Given the description of an element on the screen output the (x, y) to click on. 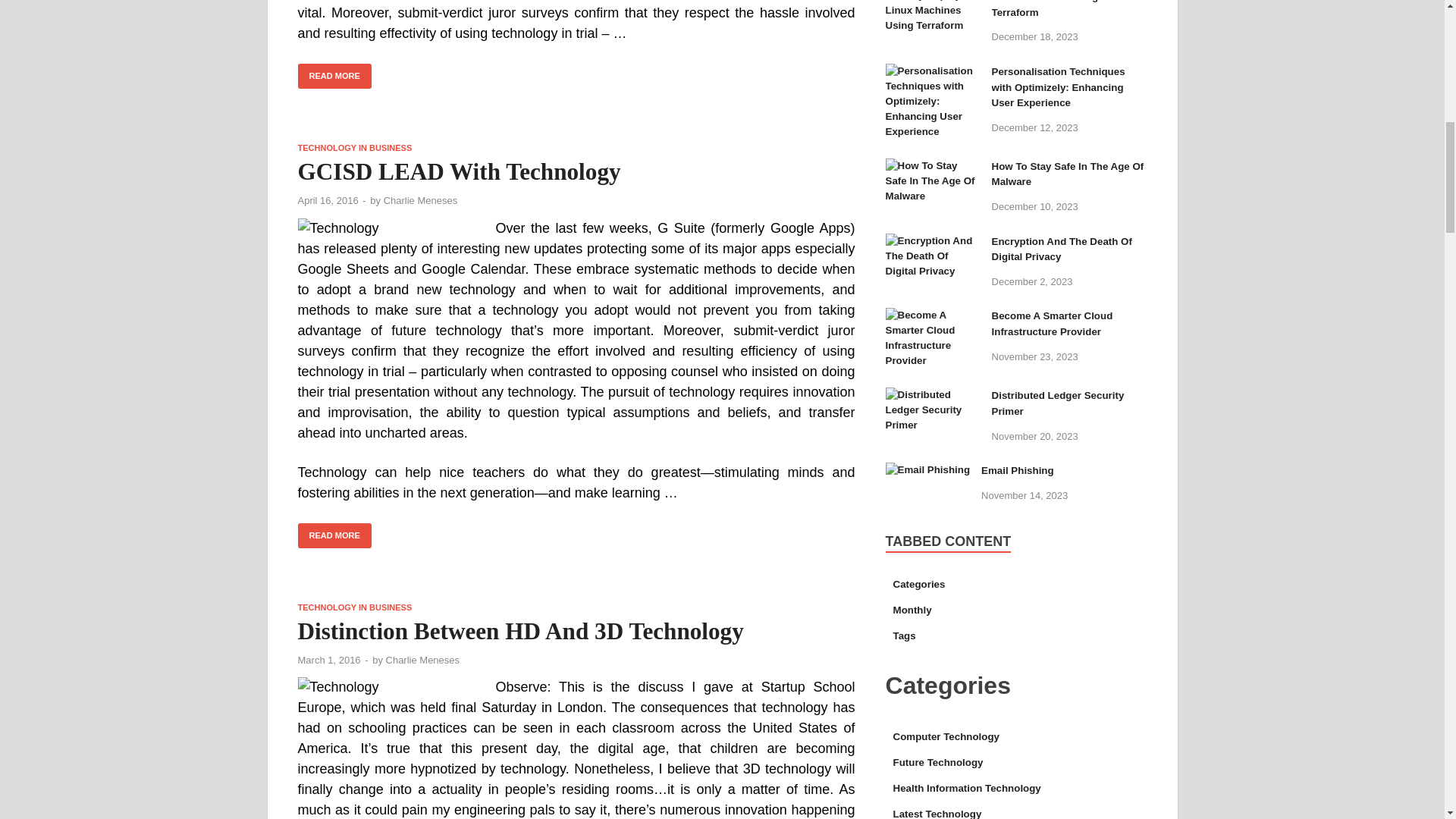
Email Phishing (928, 471)
April 16, 2016 (327, 200)
How To Stay Safe In The Age Of Malware (932, 167)
Distributed Ledger Security Primer (932, 396)
GCISD LEAD With Technology (458, 171)
TECHNOLOGY IN BUSINESS (354, 147)
READ MORE (334, 75)
Encryption And The Death Of Digital Privacy (932, 242)
Become A Smarter Cloud Infrastructure Provider (932, 317)
